Given the description of an element on the screen output the (x, y) to click on. 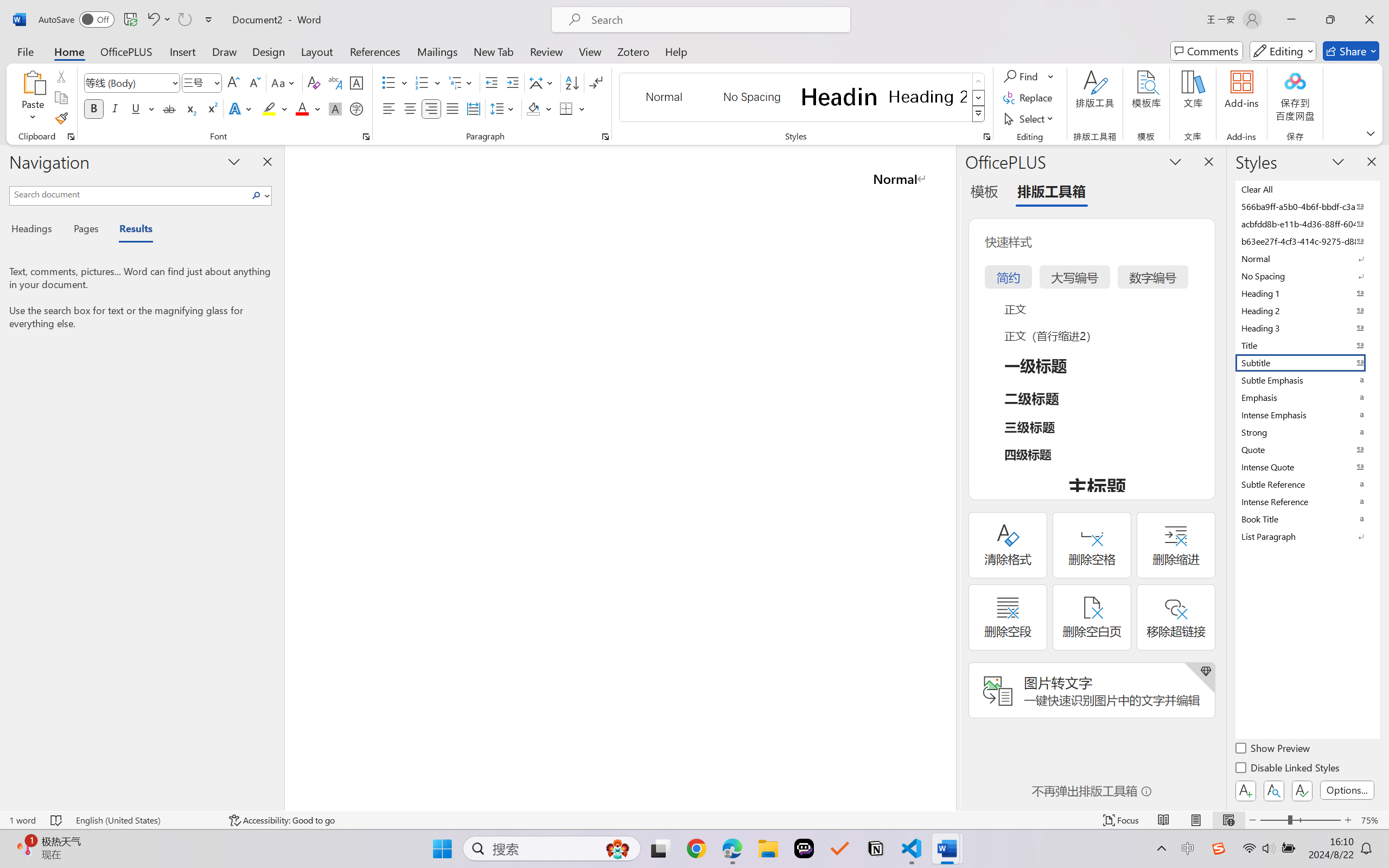
Intense Reference (1306, 501)
Undo Paragraph Alignment (152, 19)
Quote (1306, 449)
Show/Hide Editing Marks (595, 82)
Quick Access Toolbar (127, 19)
Row Down (978, 97)
Heading 1 (839, 96)
Accessibility Checker Accessibility: Good to go (282, 819)
Comments (1206, 50)
Cut (60, 75)
b63ee27f-4cf3-414c-9275-d88e3f90795e (1306, 240)
AutoSave (76, 19)
